Given the description of an element on the screen output the (x, y) to click on. 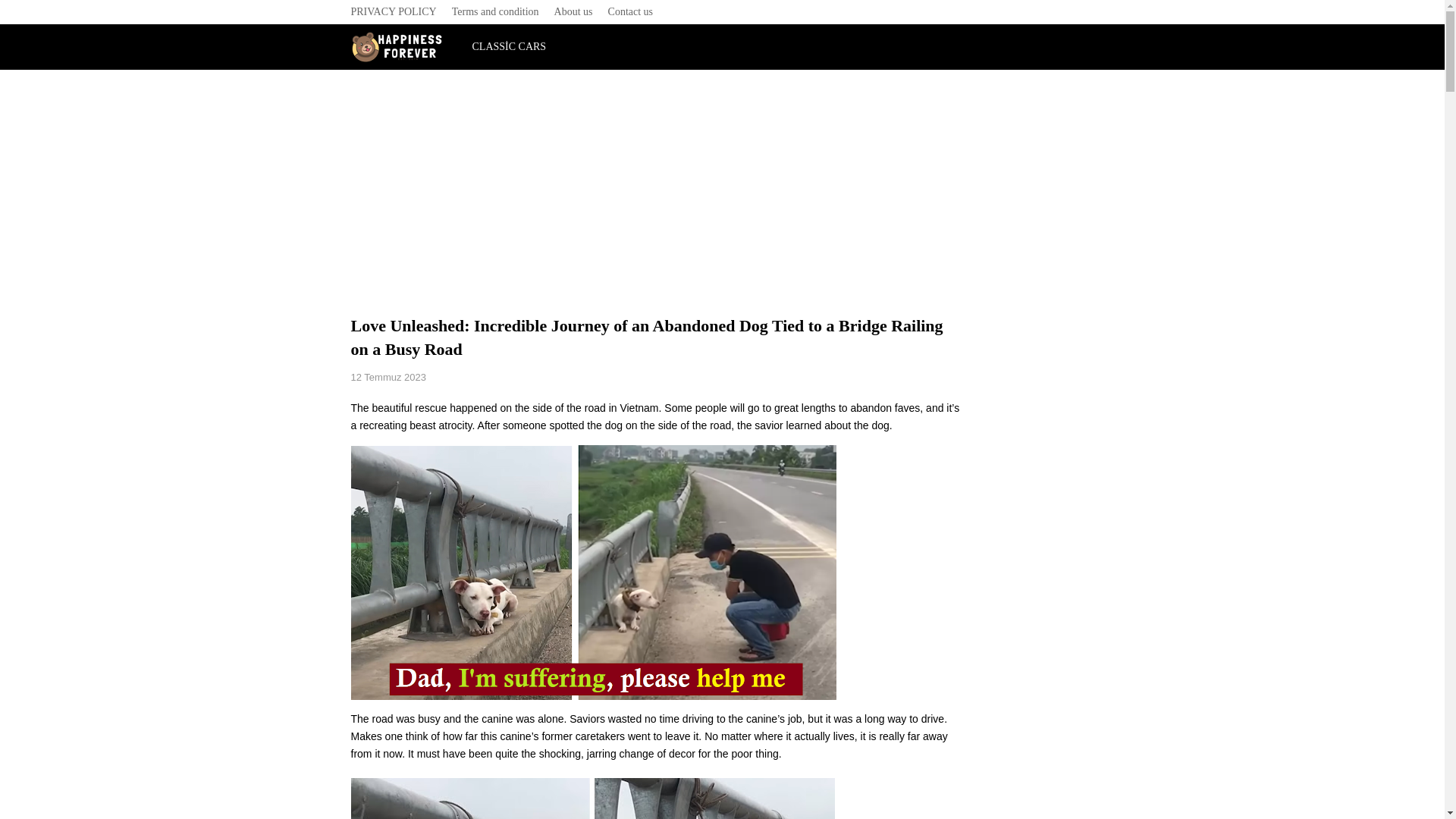
Contact us (630, 12)
Terms and condition (495, 12)
PRIVACY POLICY (397, 12)
CLASSIC CARS (508, 46)
About us (573, 12)
